Given the description of an element on the screen output the (x, y) to click on. 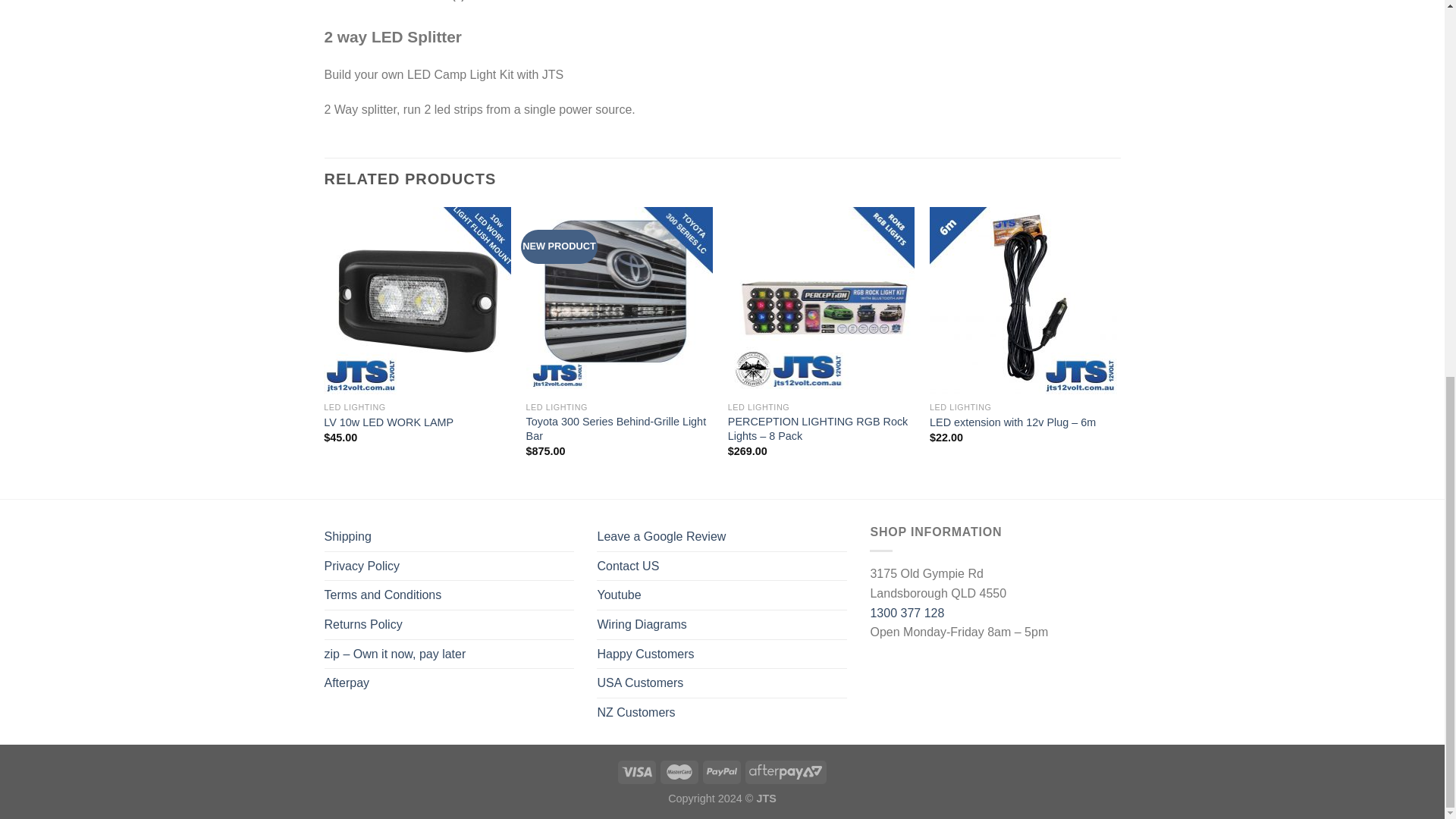
DESCRIPTION (358, 5)
